Given the description of an element on the screen output the (x, y) to click on. 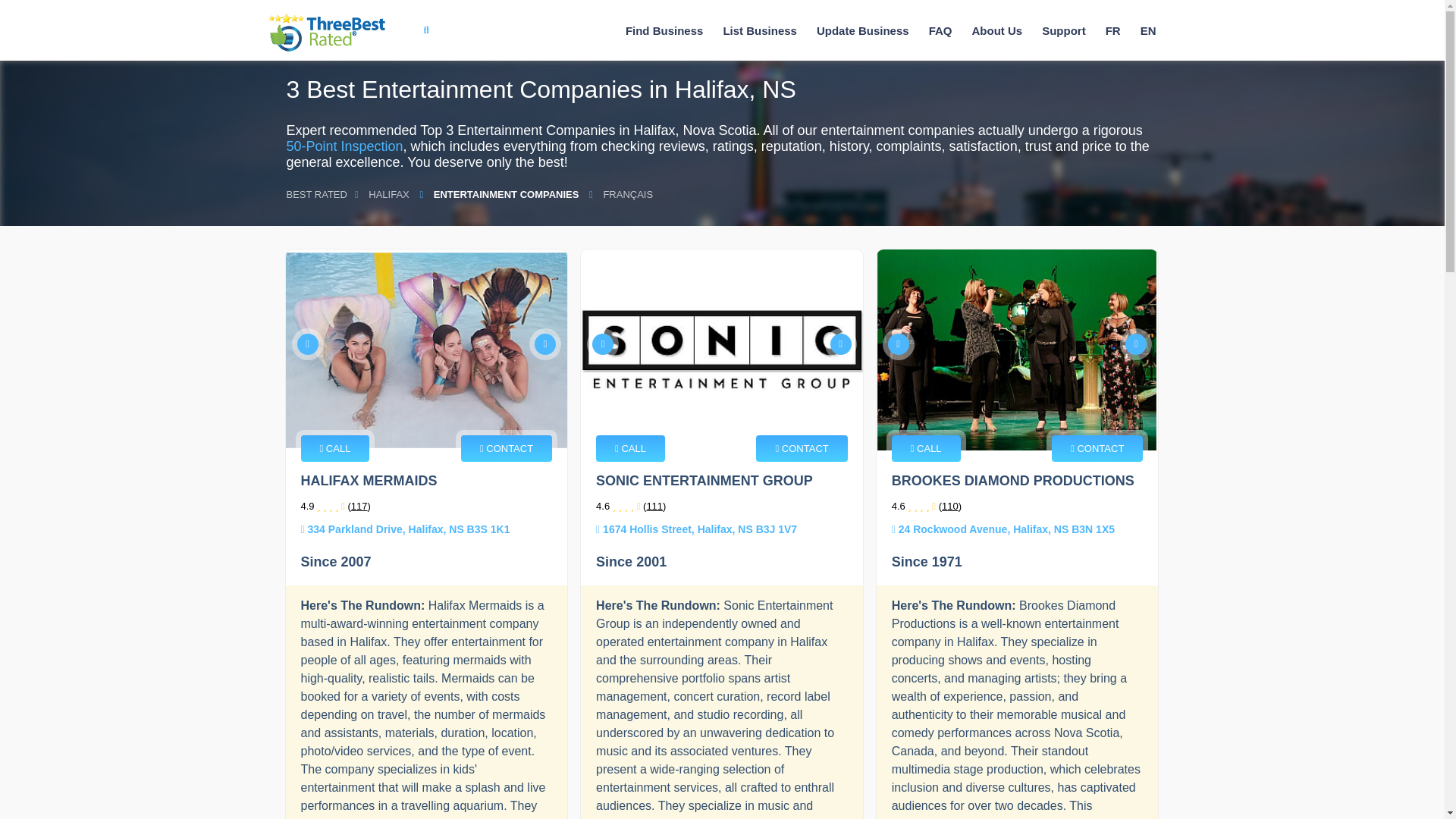
117 (359, 505)
50-Point Inspection (344, 145)
FAQ (940, 30)
111 (654, 505)
Update your business for Free! (863, 30)
334 Parkland Drive, Halifax, NS B3S 1K1 (404, 529)
Brookes Diamond Productions (1017, 349)
List Business (759, 30)
Directions to Halifax Mermaids (404, 529)
How does Three Best Rated Canada work? (996, 30)
